Given the description of an element on the screen output the (x, y) to click on. 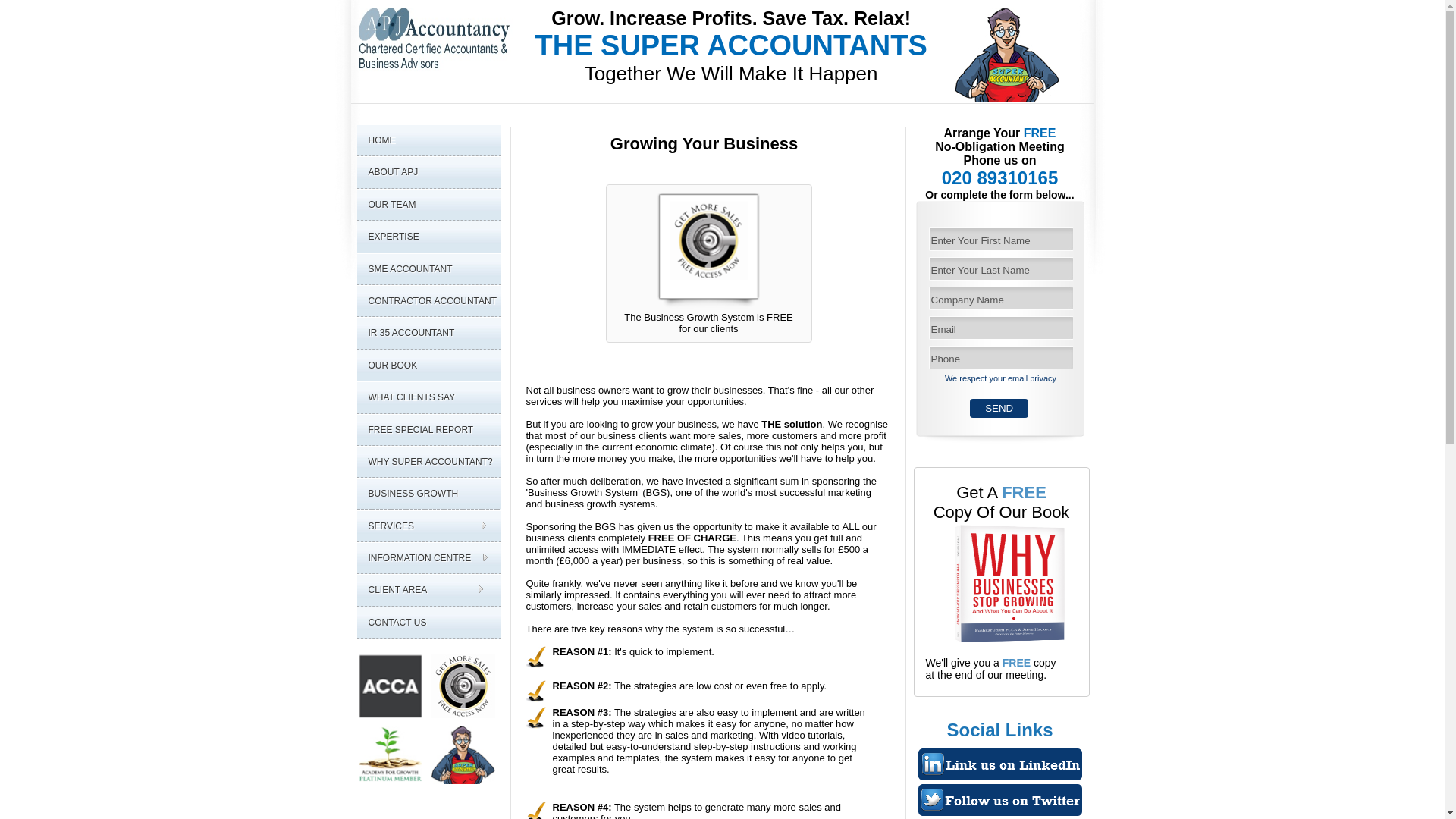
SEND (998, 407)
SME ACCOUNTANT (428, 269)
IR 35 ACCOUNTANT (428, 332)
SERVICES (428, 526)
CONTACT US (428, 622)
Enter Your First Name (999, 238)
FREE (1016, 662)
Company Name (999, 298)
INFORMATION CENTRE (428, 558)
WHAT CLIENTS SAY (428, 397)
Free Report on business growth, marketing (1023, 492)
ABOUT APJ (428, 172)
FREE (1023, 492)
SEND (998, 407)
Phone (999, 357)
